Given the description of an element on the screen output the (x, y) to click on. 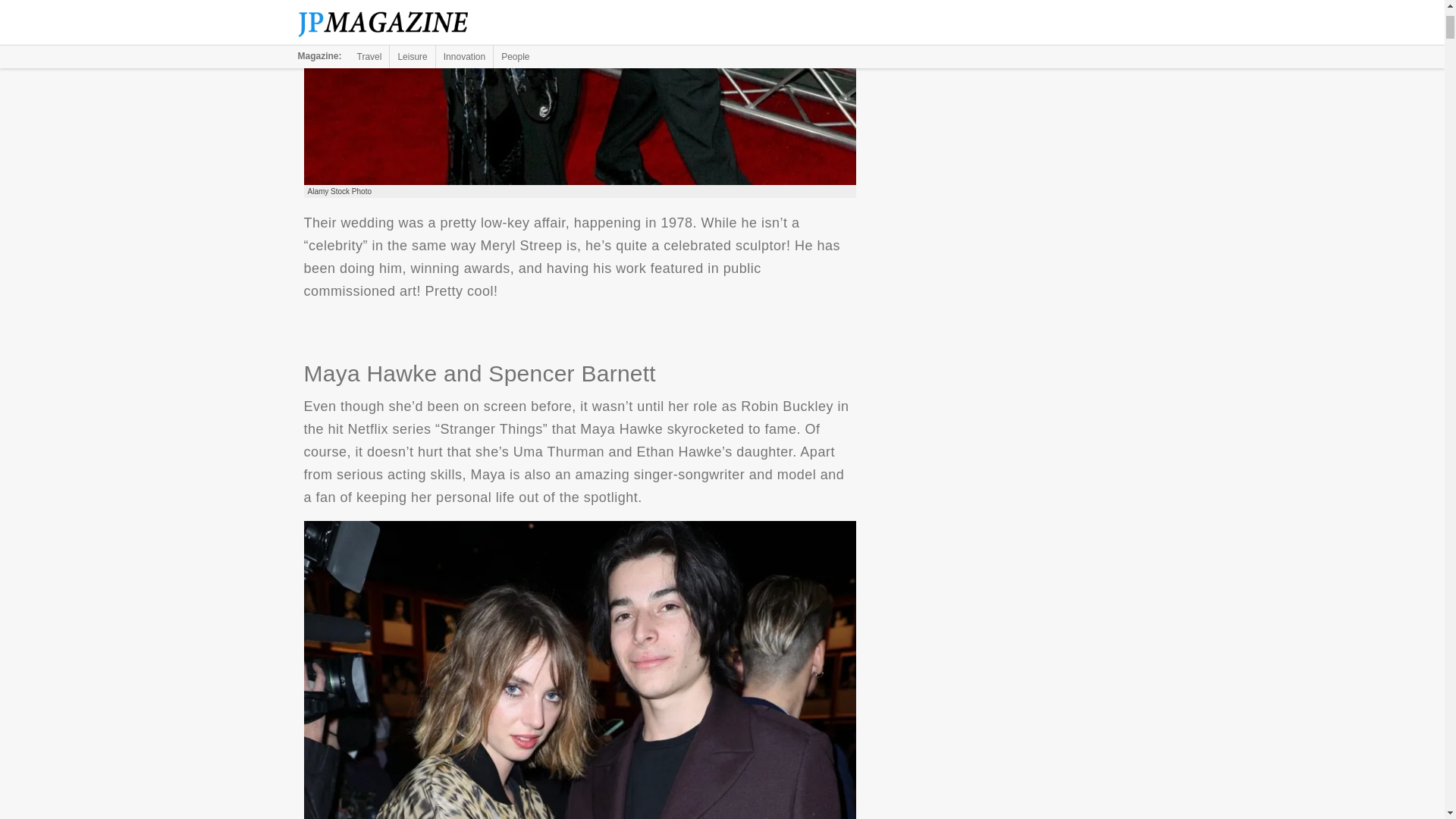
Meryl Streep and Don Gummer (579, 92)
